Given the description of an element on the screen output the (x, y) to click on. 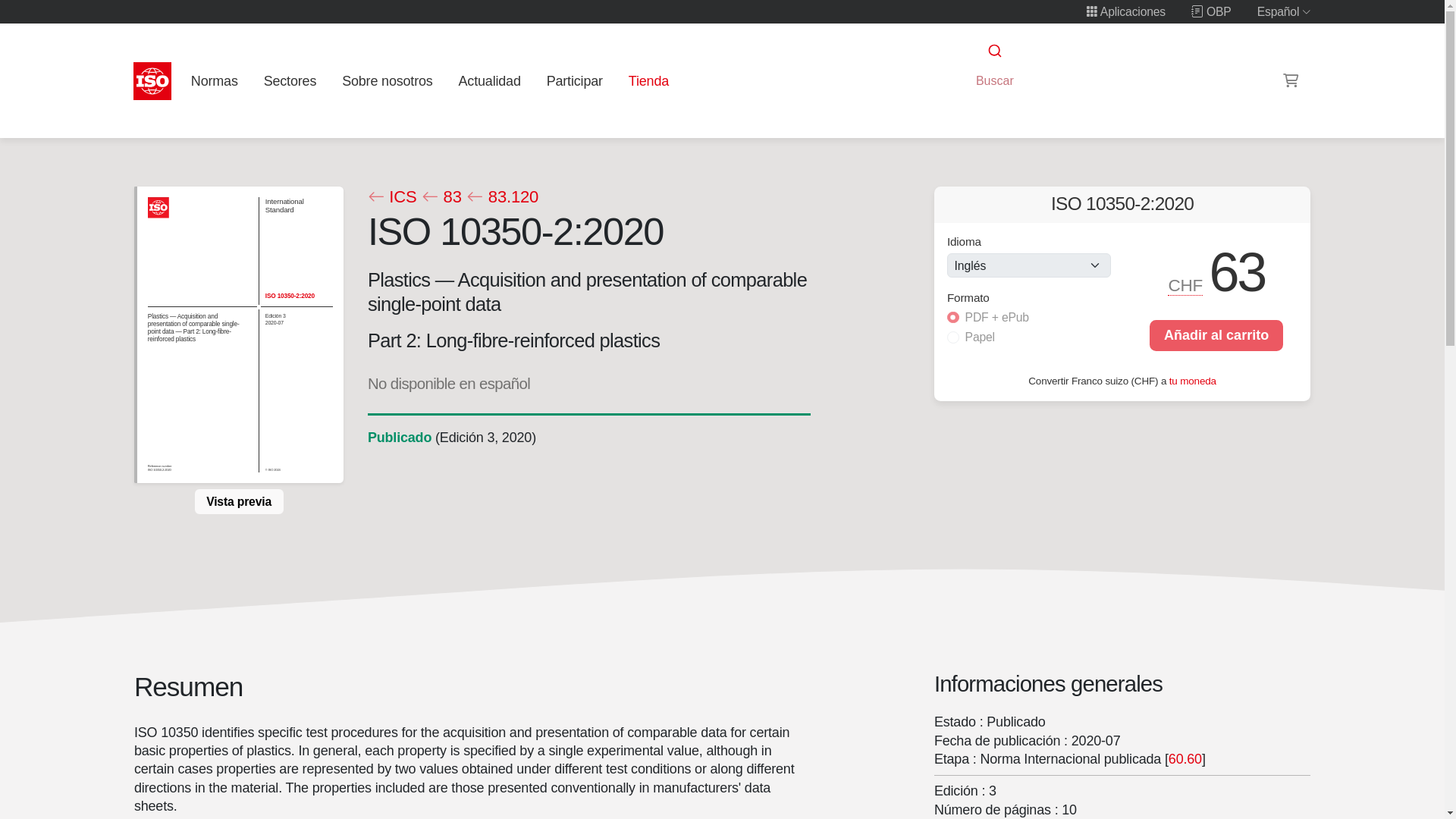
tu moneda (1192, 379)
Sobre nosotros (387, 80)
Ciclo de vida (398, 436)
Tienda (648, 80)
Francos suizos (1186, 285)
Sectores (290, 80)
Participar (574, 80)
Actualidad (489, 80)
83.120 (501, 197)
60.60 (1185, 758)
Publicado (398, 436)
60.60 (1185, 758)
